Given the description of an element on the screen output the (x, y) to click on. 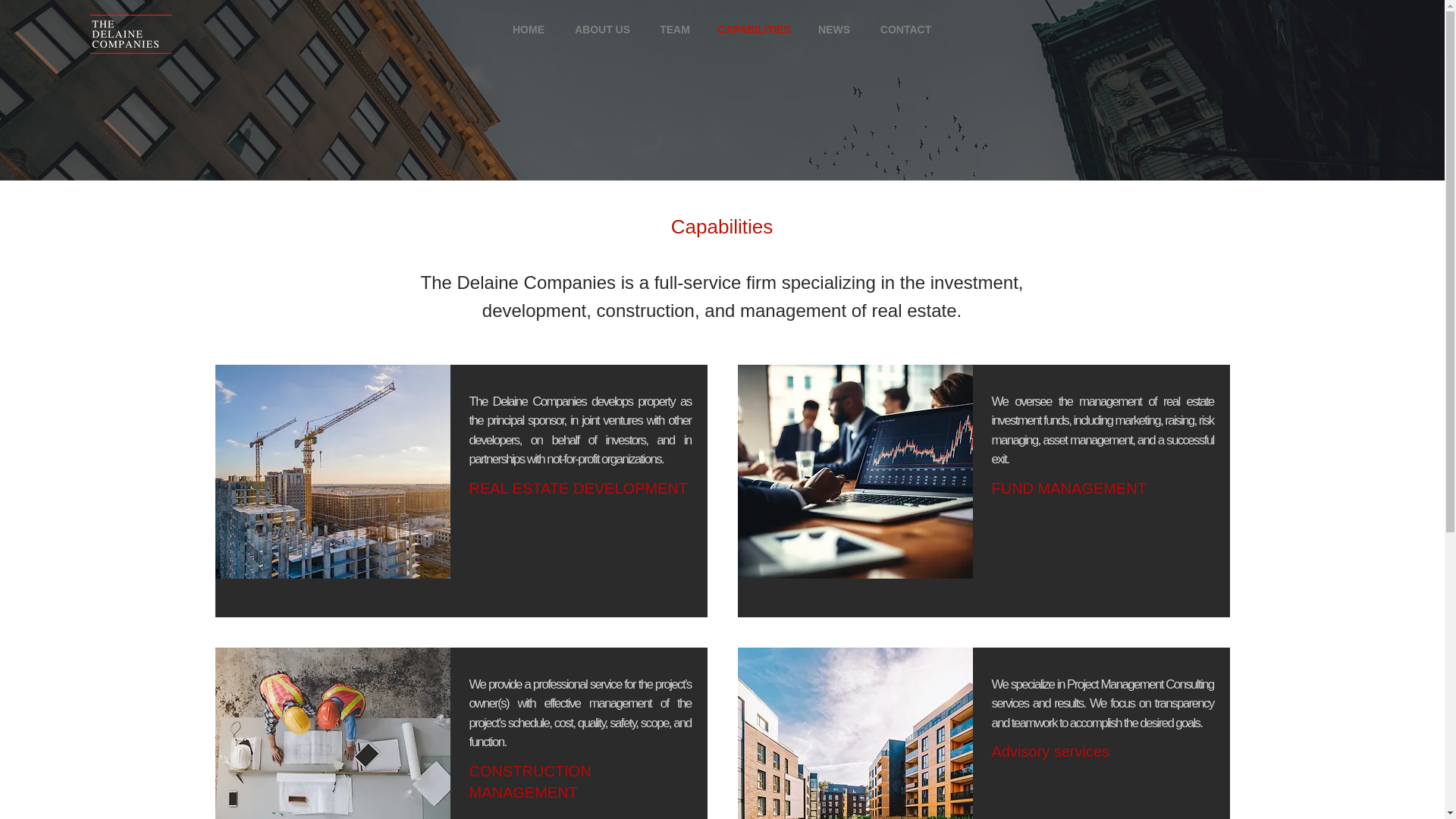
ABOUT US (602, 29)
NEWS (833, 29)
CONTACT (905, 29)
TEAM (674, 29)
HOME (528, 29)
CAPABILITIES (753, 29)
